Given the description of an element on the screen output the (x, y) to click on. 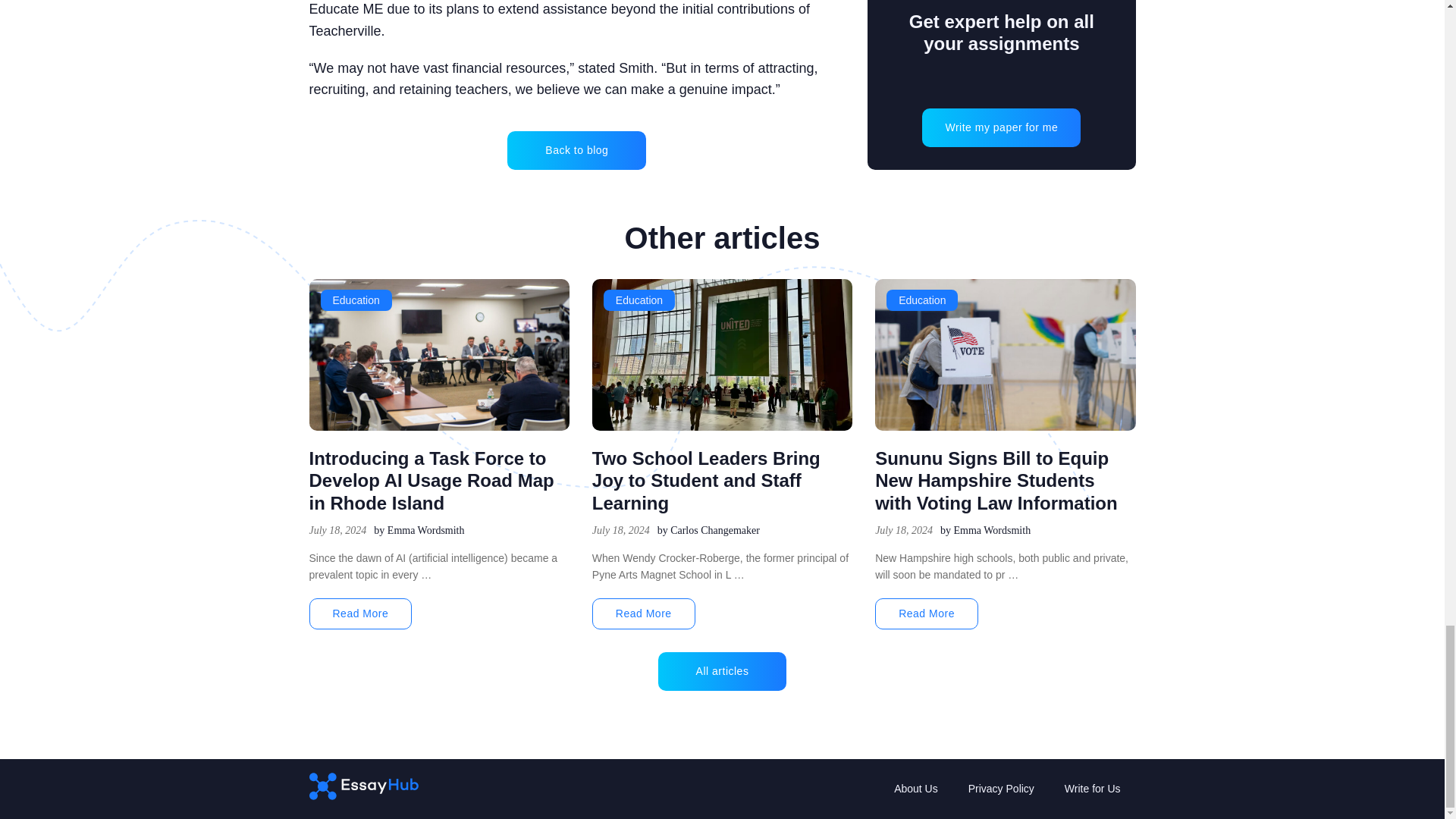
Read More (926, 613)
Education (922, 300)
Back to blog (576, 150)
All articles (722, 671)
by Emma Wordsmith (419, 530)
Read More (643, 613)
Education (355, 300)
Two School Leaders Bring Joy to Student and Staff Learning (706, 480)
Write for Us (1092, 788)
Education (639, 300)
About Us (916, 788)
by Carlos Changemaker (709, 530)
Read More (360, 613)
